Given the description of an element on the screen output the (x, y) to click on. 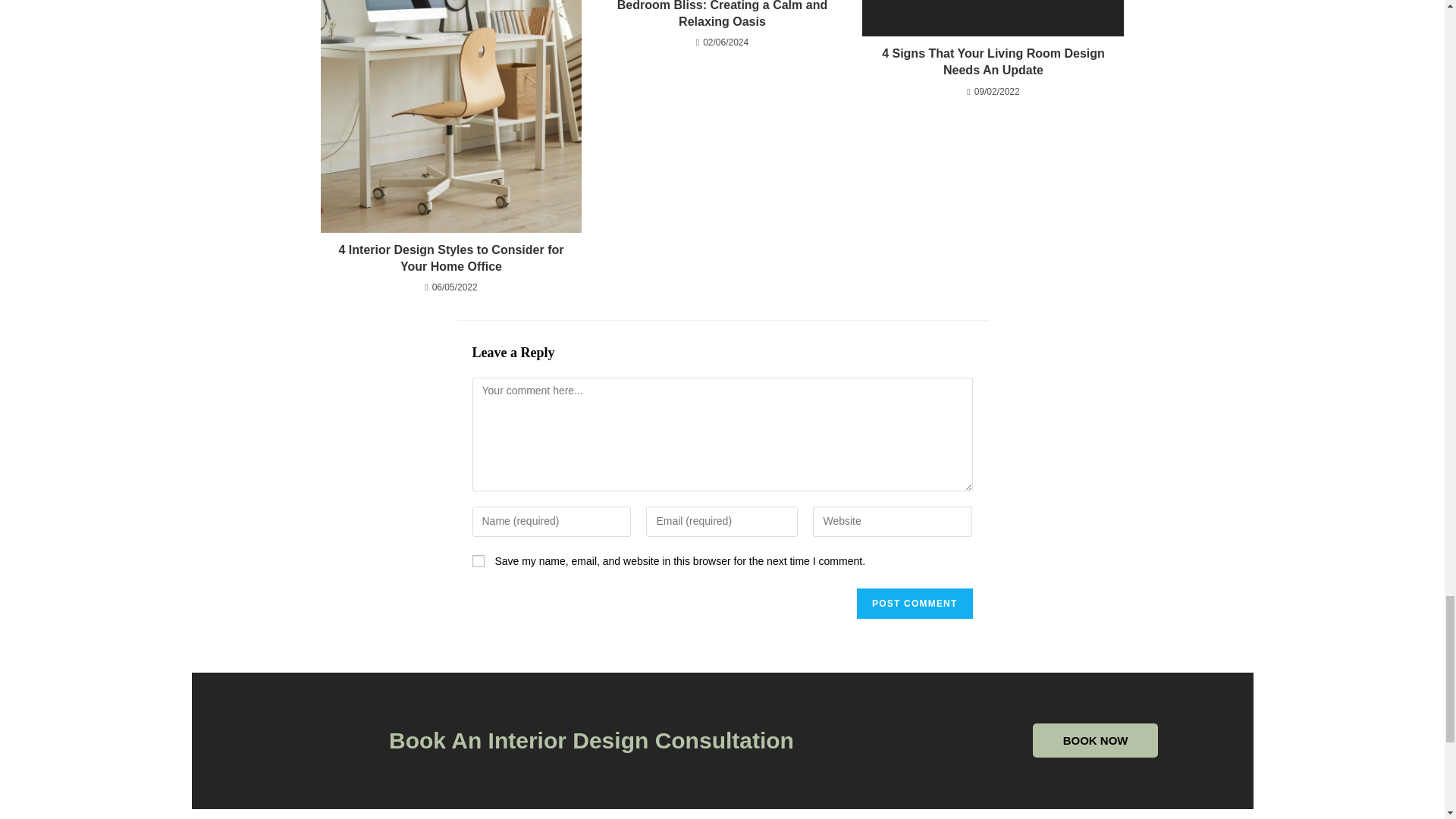
Post Comment (914, 603)
yes (477, 561)
